Given the description of an element on the screen output the (x, y) to click on. 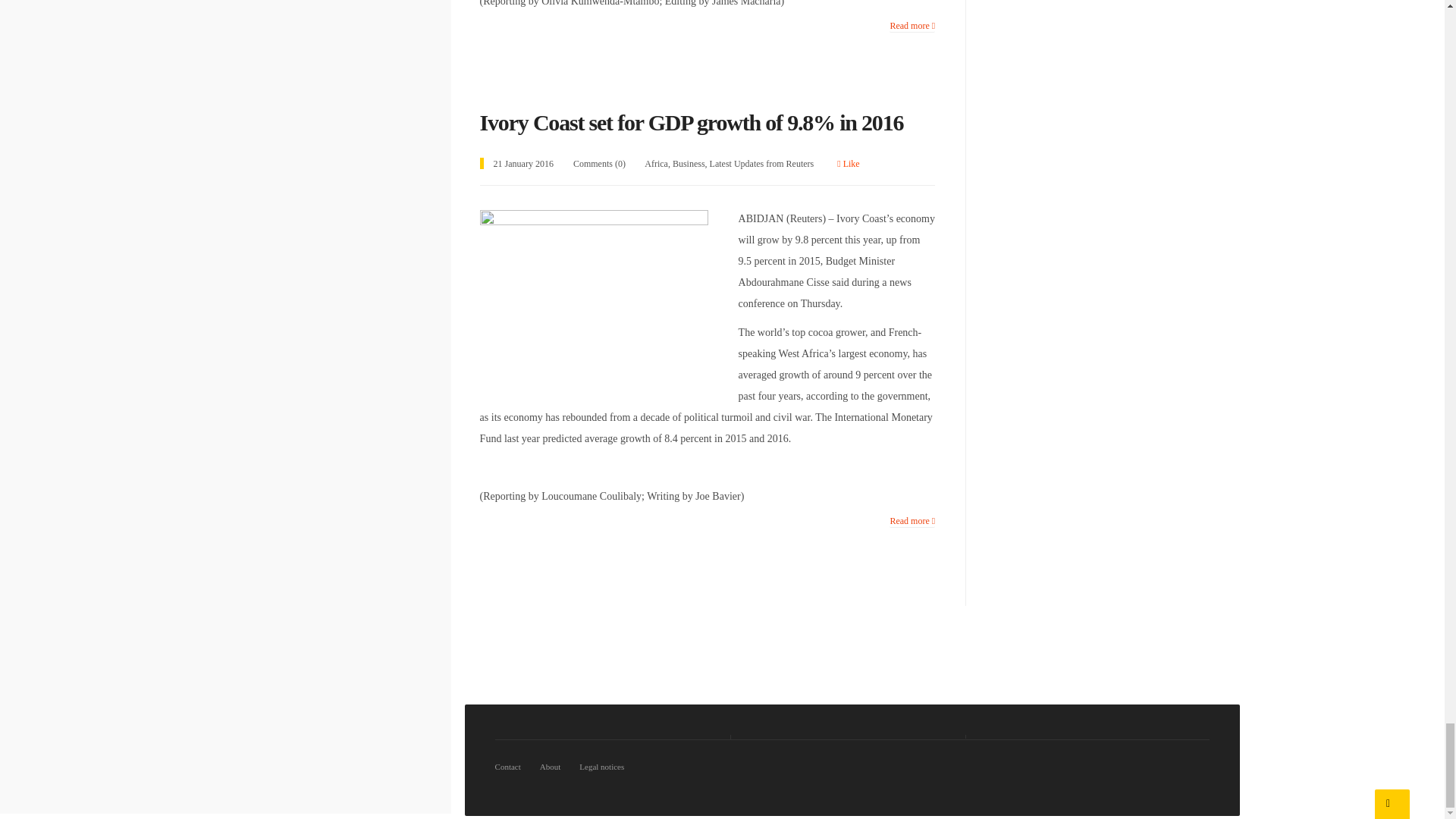
Like (848, 163)
